Given the description of an element on the screen output the (x, y) to click on. 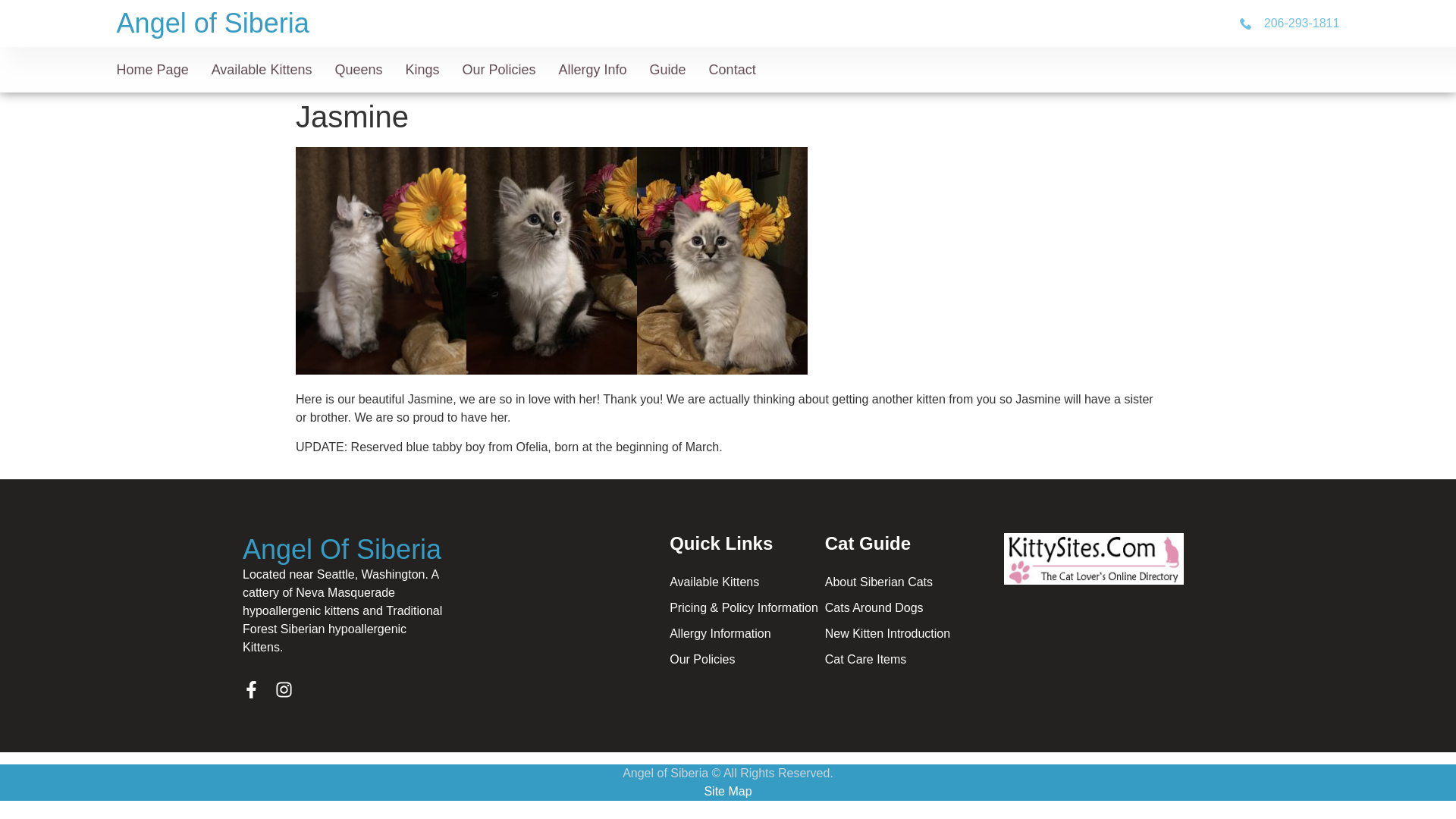
Available Kittens (262, 69)
Queens (357, 69)
Kings (421, 69)
Home Page (152, 69)
Contact (732, 69)
Angel of Siberia (212, 22)
Guide (667, 69)
206-293-1811 (1289, 23)
Allergy Info (593, 69)
Our Policies (498, 69)
